Given the description of an element on the screen output the (x, y) to click on. 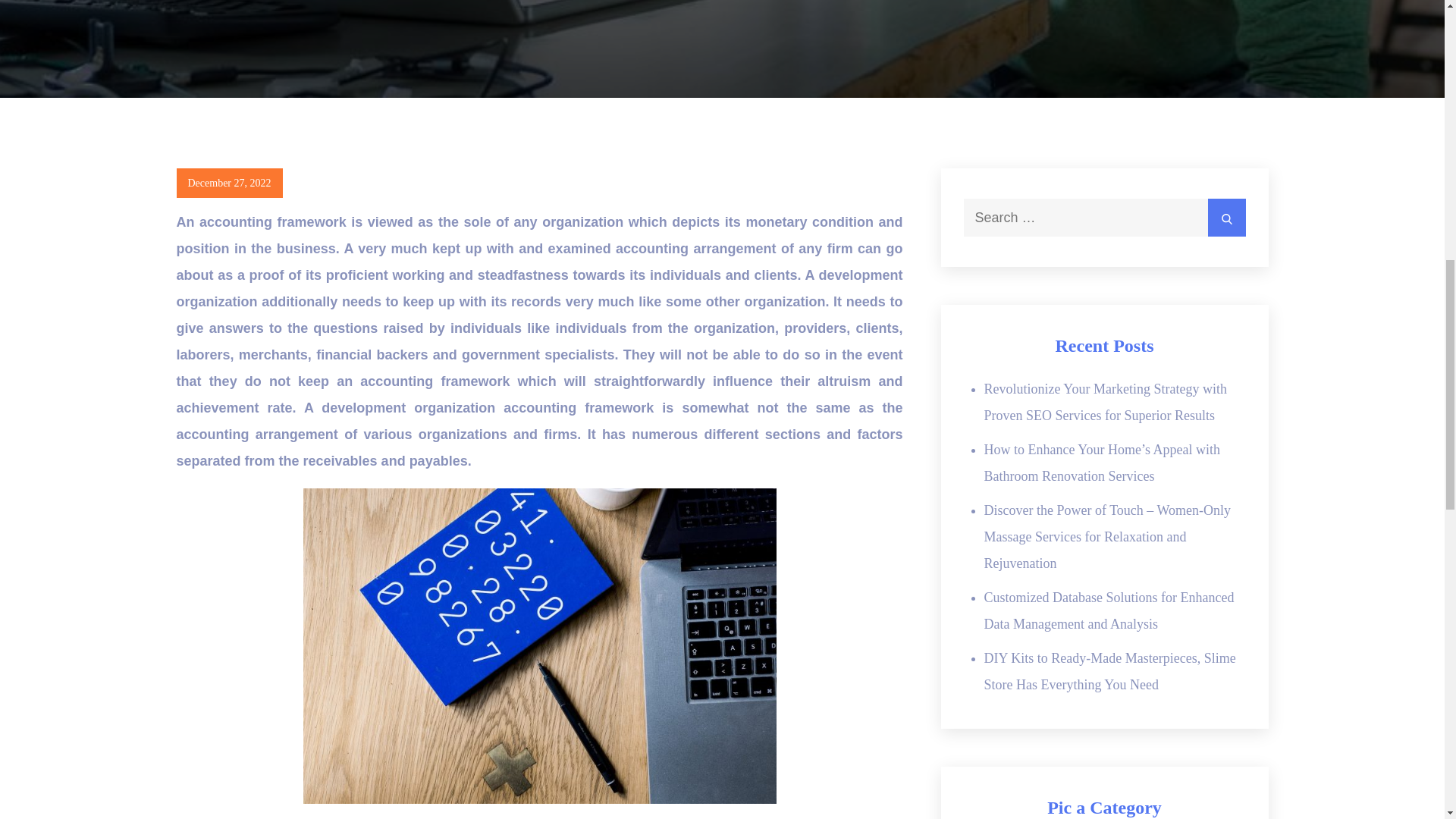
Search (1225, 217)
December 27, 2022 (229, 183)
